Given the description of an element on the screen output the (x, y) to click on. 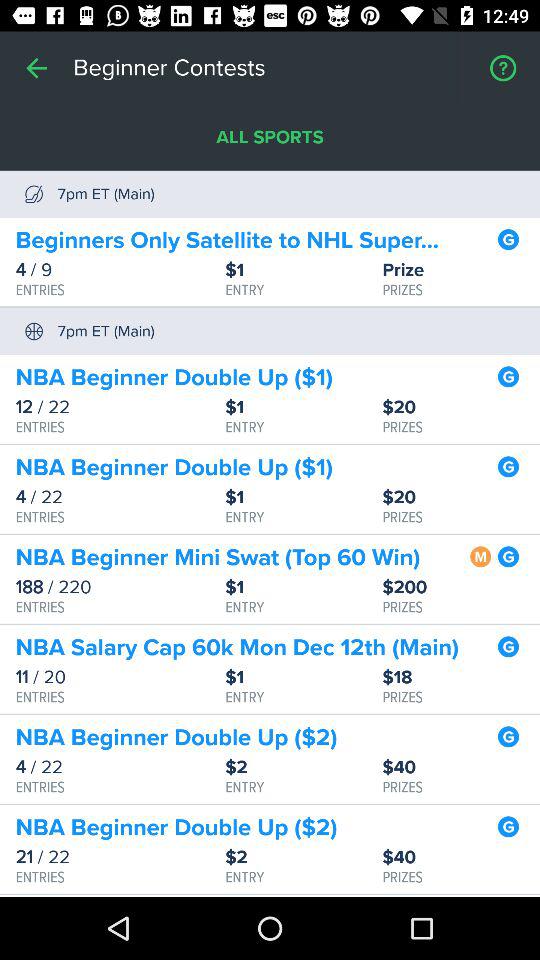
turn on nba salary cap icon (237, 648)
